Given the description of an element on the screen output the (x, y) to click on. 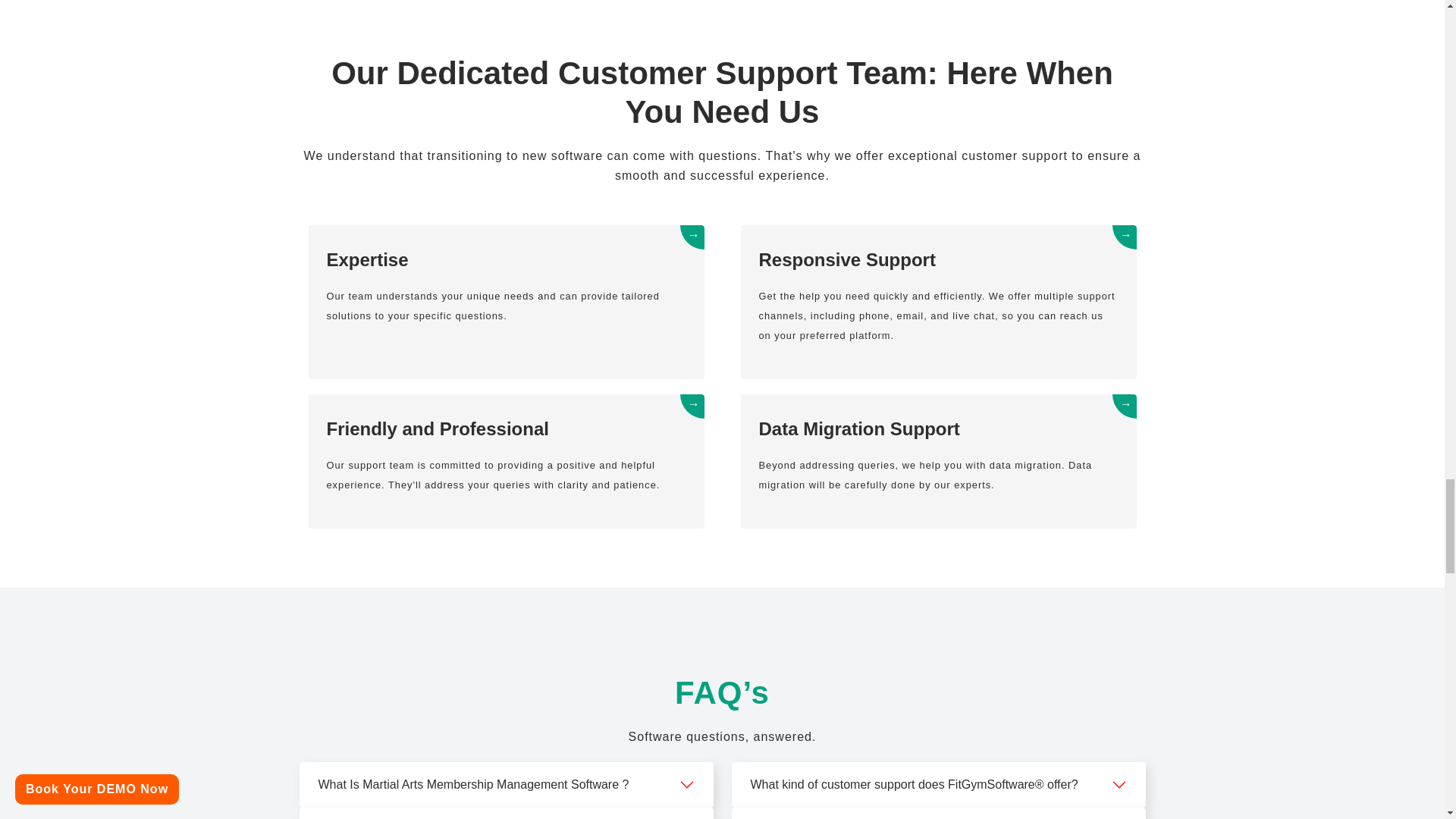
What Is Martial Arts Membership Management Software ? (506, 784)
